Given the description of an element on the screen output the (x, y) to click on. 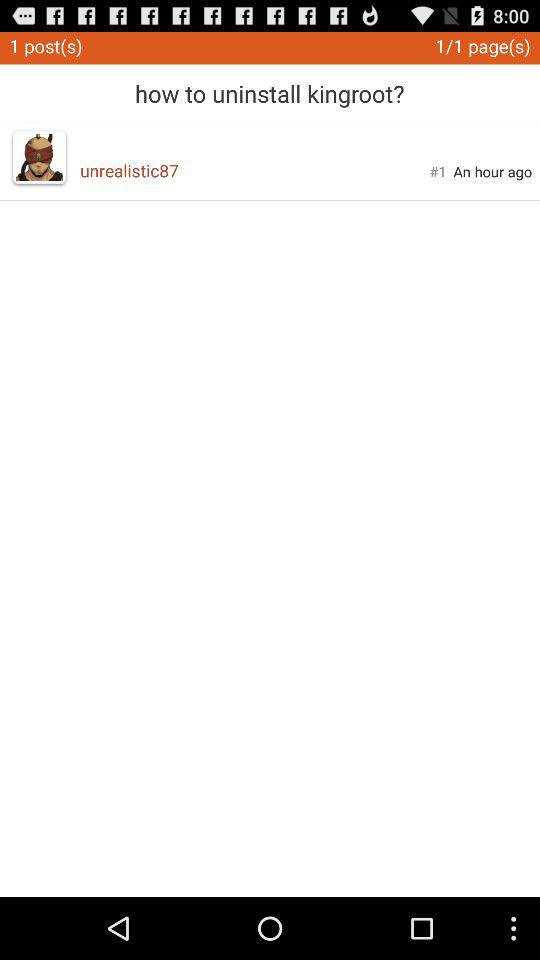
flip until the unrealistic87 icon (254, 170)
